Given the description of an element on the screen output the (x, y) to click on. 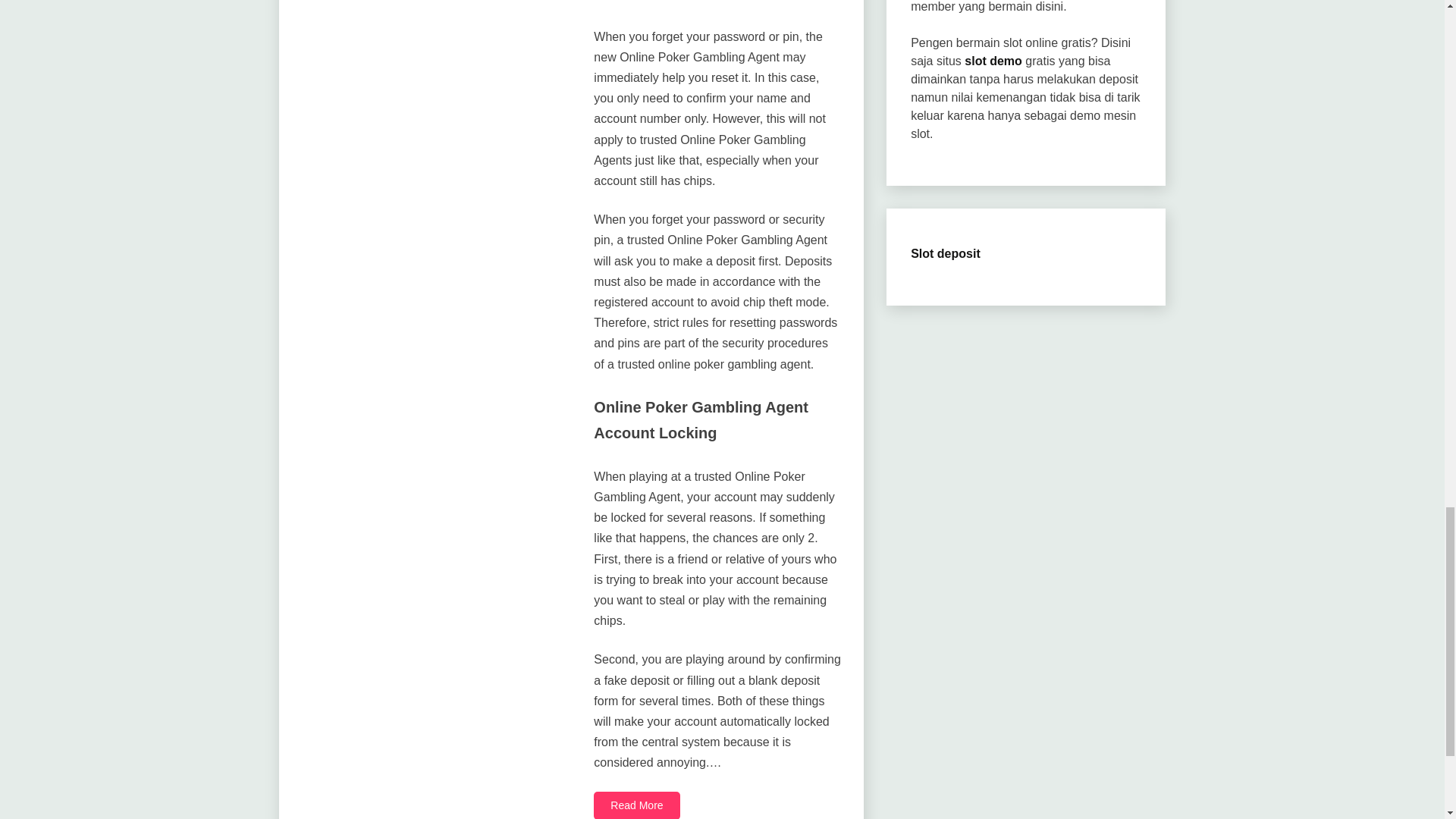
Slot deposit (945, 253)
Read More (636, 805)
slot demo (992, 60)
